Given the description of an element on the screen output the (x, y) to click on. 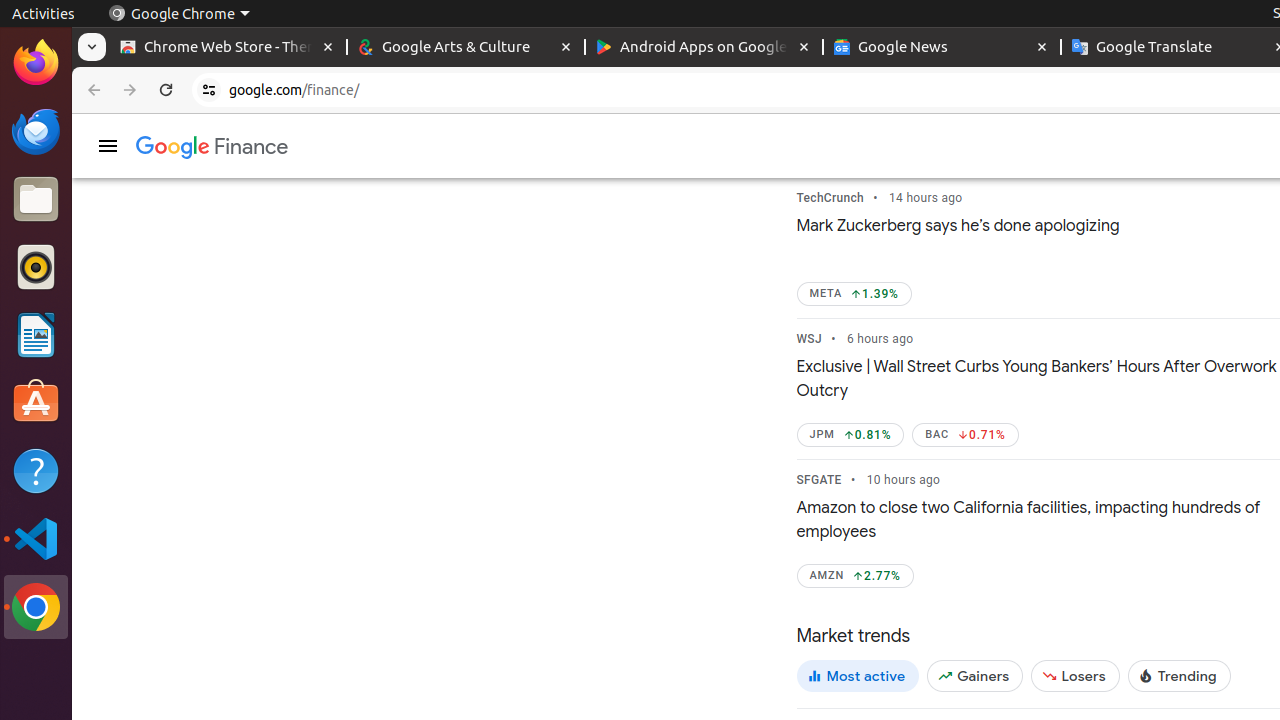
Firefox Web Browser Element type: push-button (36, 63)
Google Chrome Element type: menu (179, 13)
Files Element type: push-button (36, 199)
LibreOffice Writer Element type: push-button (36, 334)
Ubuntu Software Element type: push-button (36, 402)
